Given the description of an element on the screen output the (x, y) to click on. 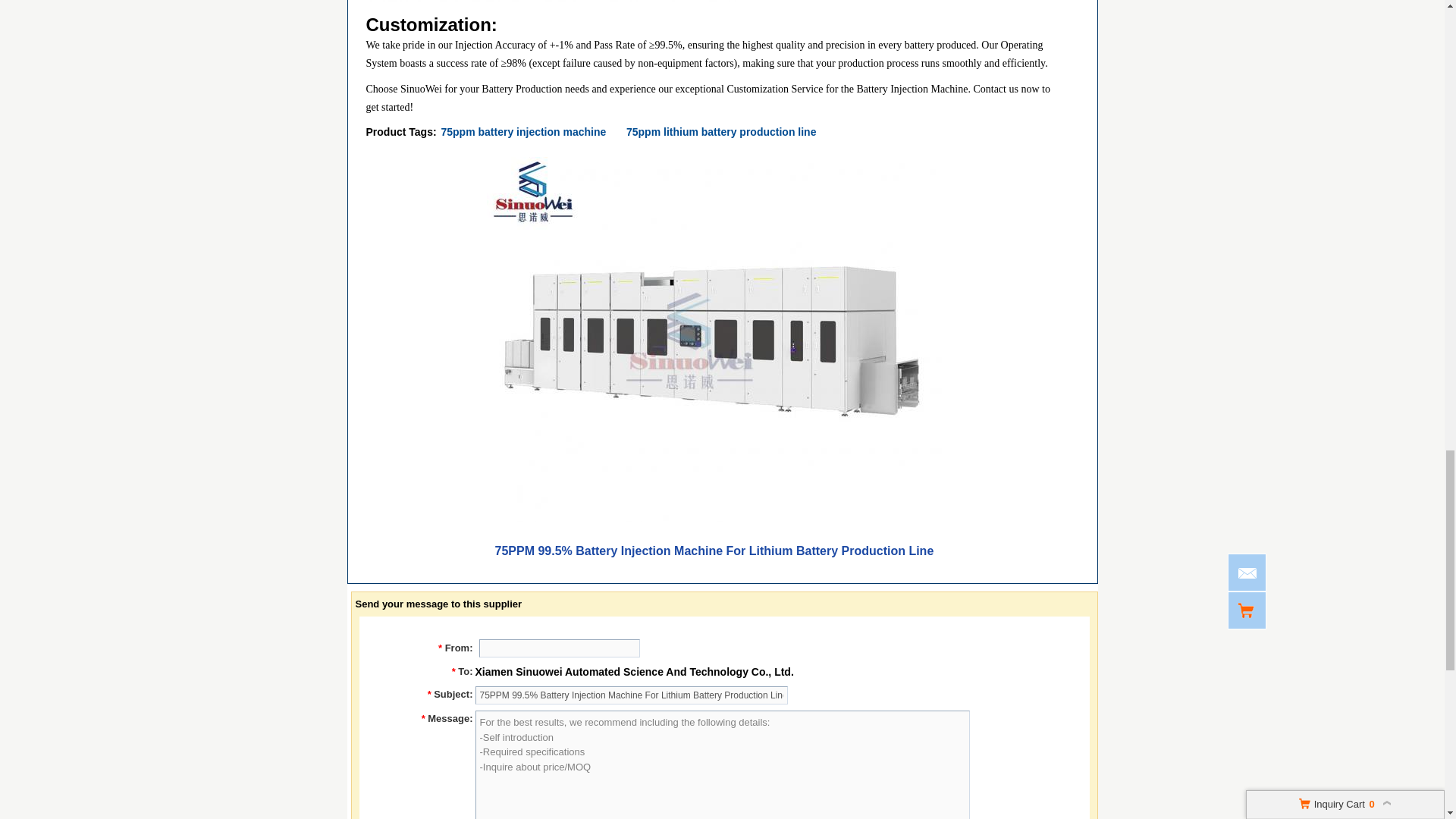
Quality 75ppm battery injection machine for sale (523, 132)
Quality 75ppm lithium battery production line for sale (720, 132)
75ppm lithium battery production line (720, 132)
75ppm battery injection machine (523, 132)
